Given the description of an element on the screen output the (x, y) to click on. 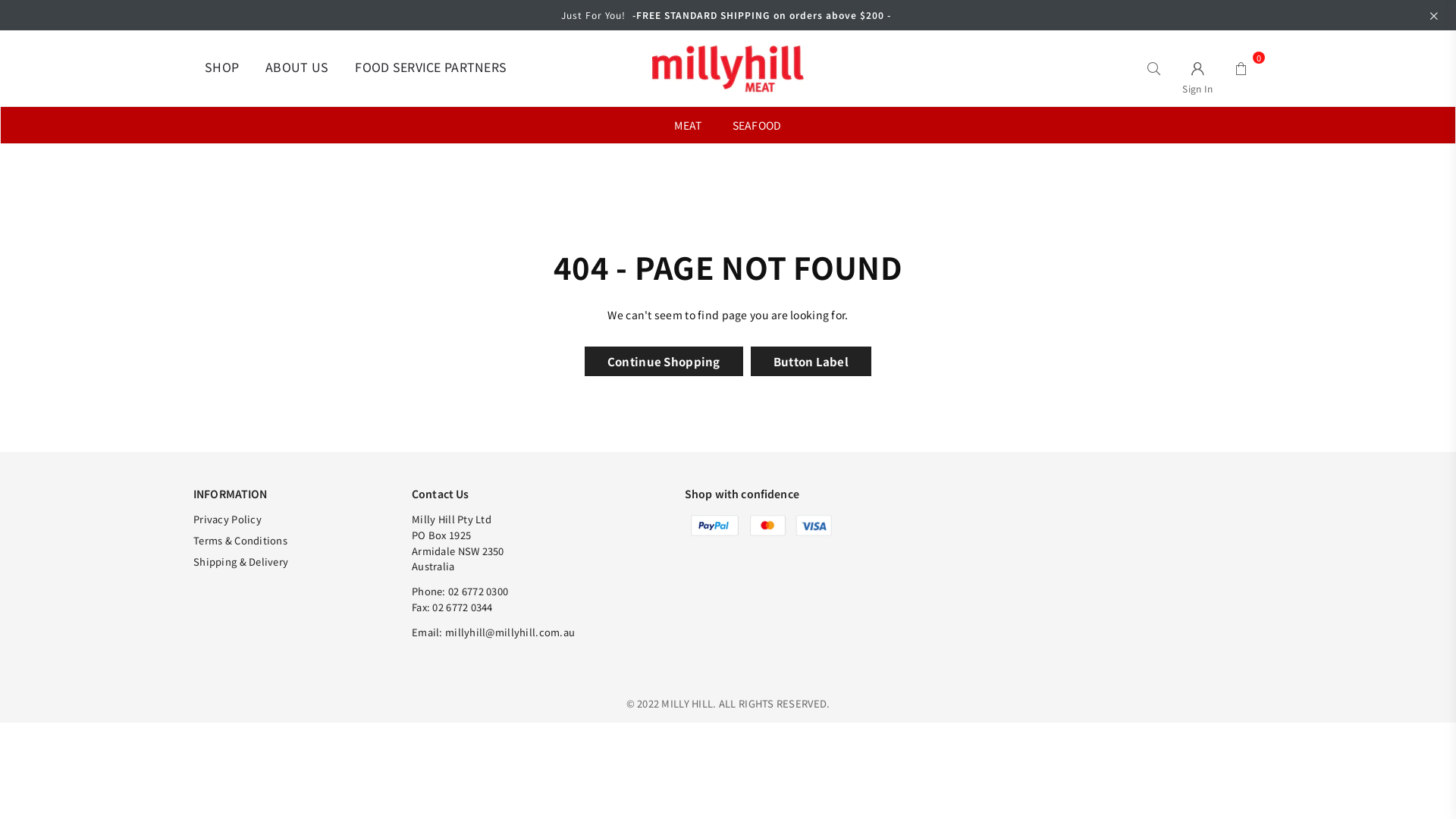
Email: millyhill@millyhill.com.au Element type: text (492, 631)
SHOP Element type: text (221, 68)
FOOD SERVICE PARTNERS Element type: text (430, 68)
Sign In Element type: text (1197, 68)
MEAT Element type: text (687, 124)
ABOUT US Element type: text (296, 68)
SEAFOOD Element type: text (756, 124)
MILLY HILL STORE Element type: text (727, 67)
Continue Shopping Element type: text (663, 361)
Shipping & Delivery Element type: text (240, 561)
Button Label Element type: text (810, 361)
0 Element type: text (1240, 68)
Phone: 02 6772 0300
Fax: 02 6772 0344 Element type: text (459, 598)
Privacy Policy Element type: text (227, 518)
Terms & Conditions Element type: text (240, 540)
Search Element type: hover (1153, 68)
